Given the description of an element on the screen output the (x, y) to click on. 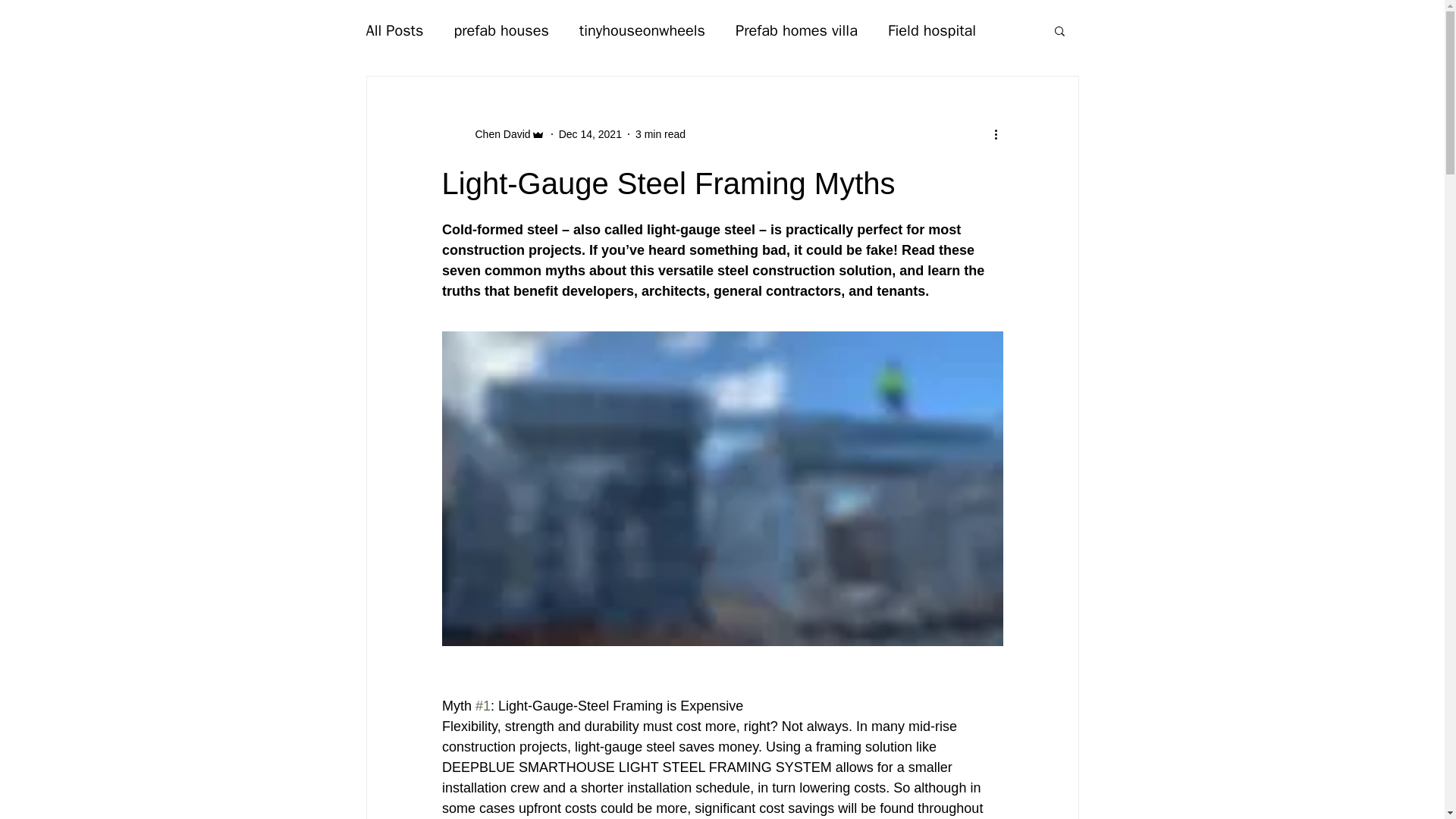
Chen David (497, 133)
3 min read (659, 133)
Dec 14, 2021 (590, 133)
